Given the description of an element on the screen output the (x, y) to click on. 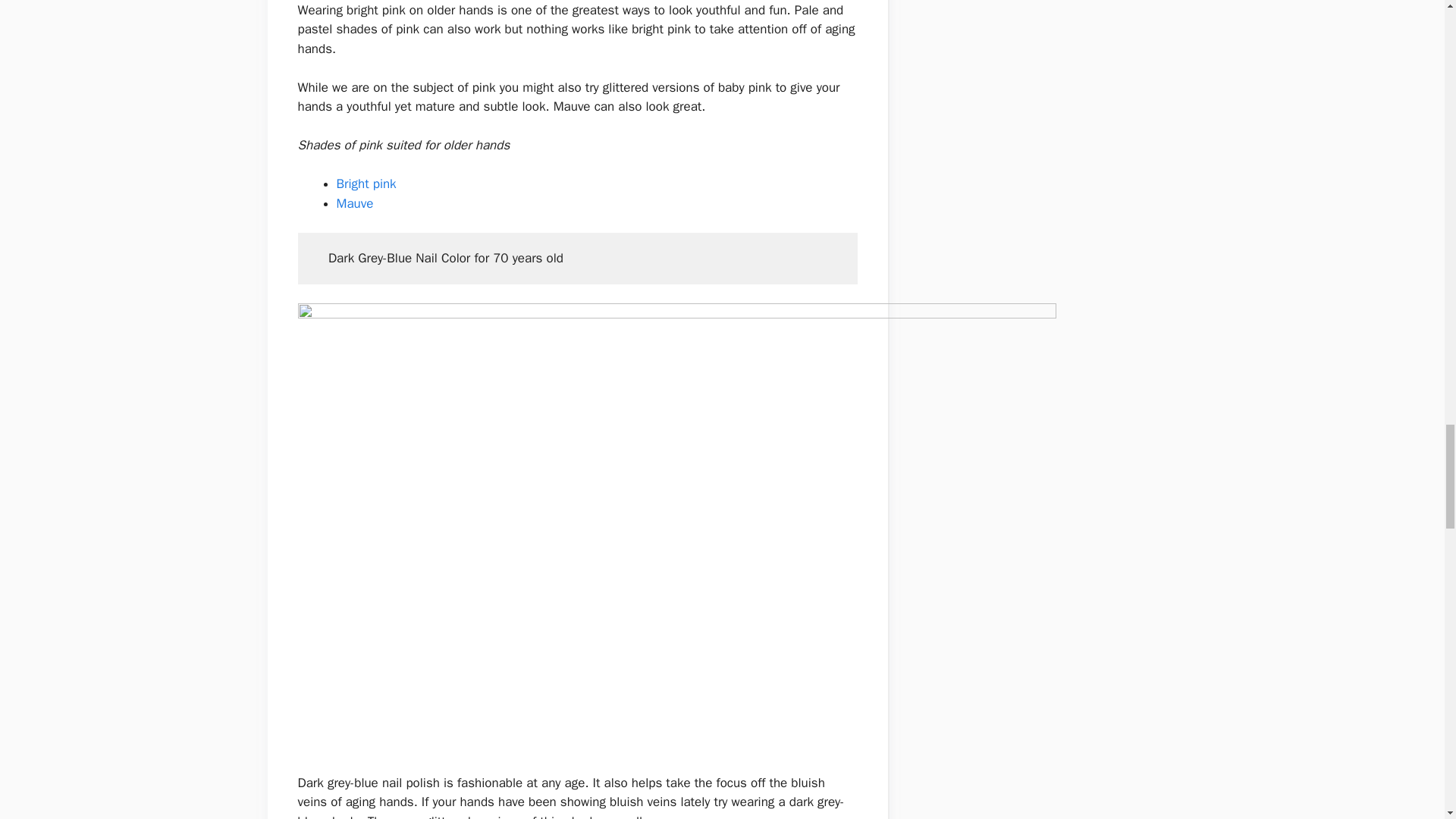
Mauve (355, 203)
Bright pink  (368, 183)
